Given the description of an element on the screen output the (x, y) to click on. 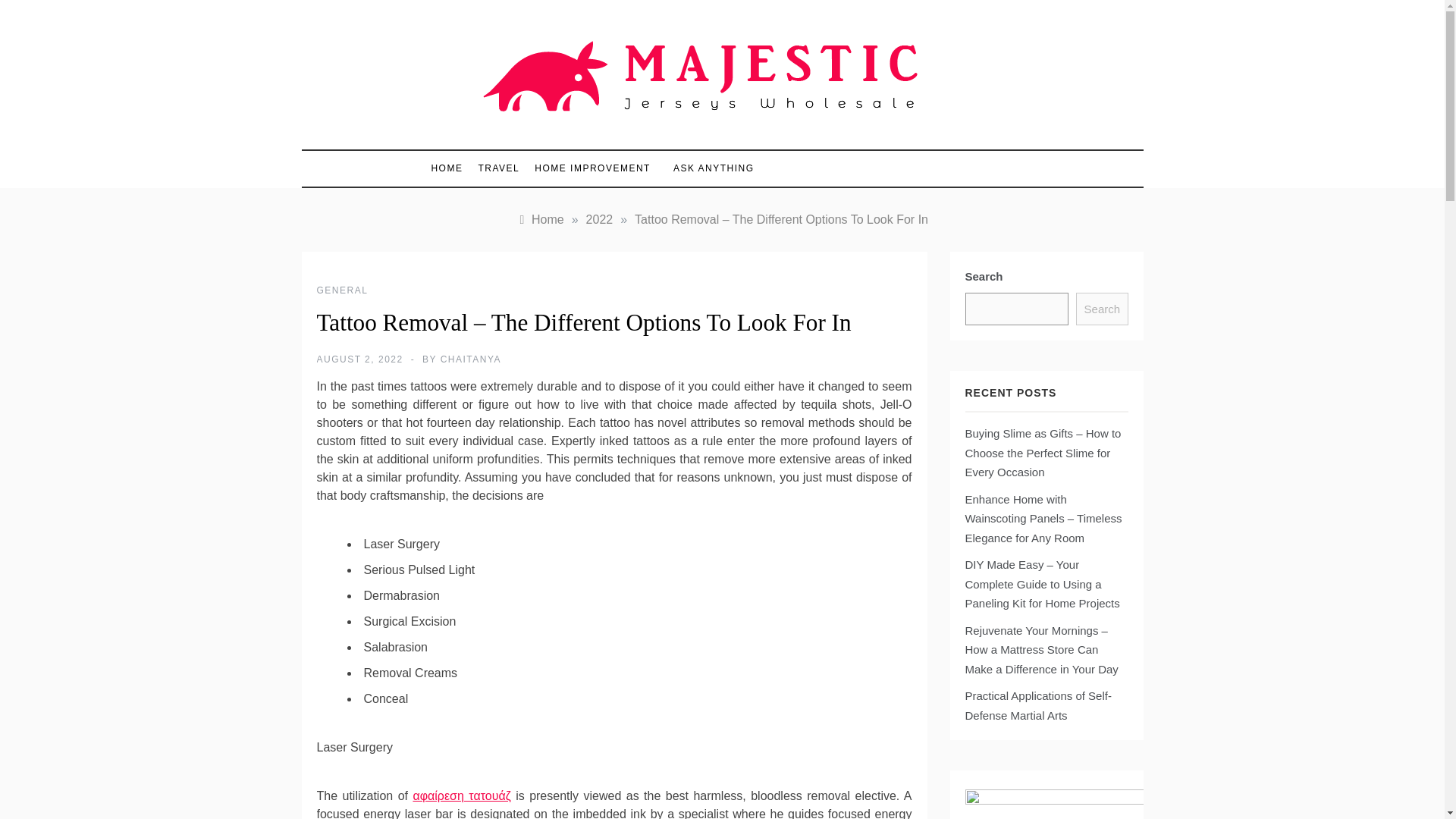
Search (1100, 308)
HOME IMPROVEMENT (592, 168)
Majestic Jerseys Wholesale (658, 134)
Home (540, 219)
TRAVEL (498, 168)
CHAITANYA (470, 358)
GENERAL (342, 290)
HOME (450, 168)
2022 (599, 219)
AUGUST 2, 2022 (360, 358)
Practical Applications of Self-Defense Martial Arts (1036, 705)
ASK ANYTHING (706, 168)
